Given the description of an element on the screen output the (x, y) to click on. 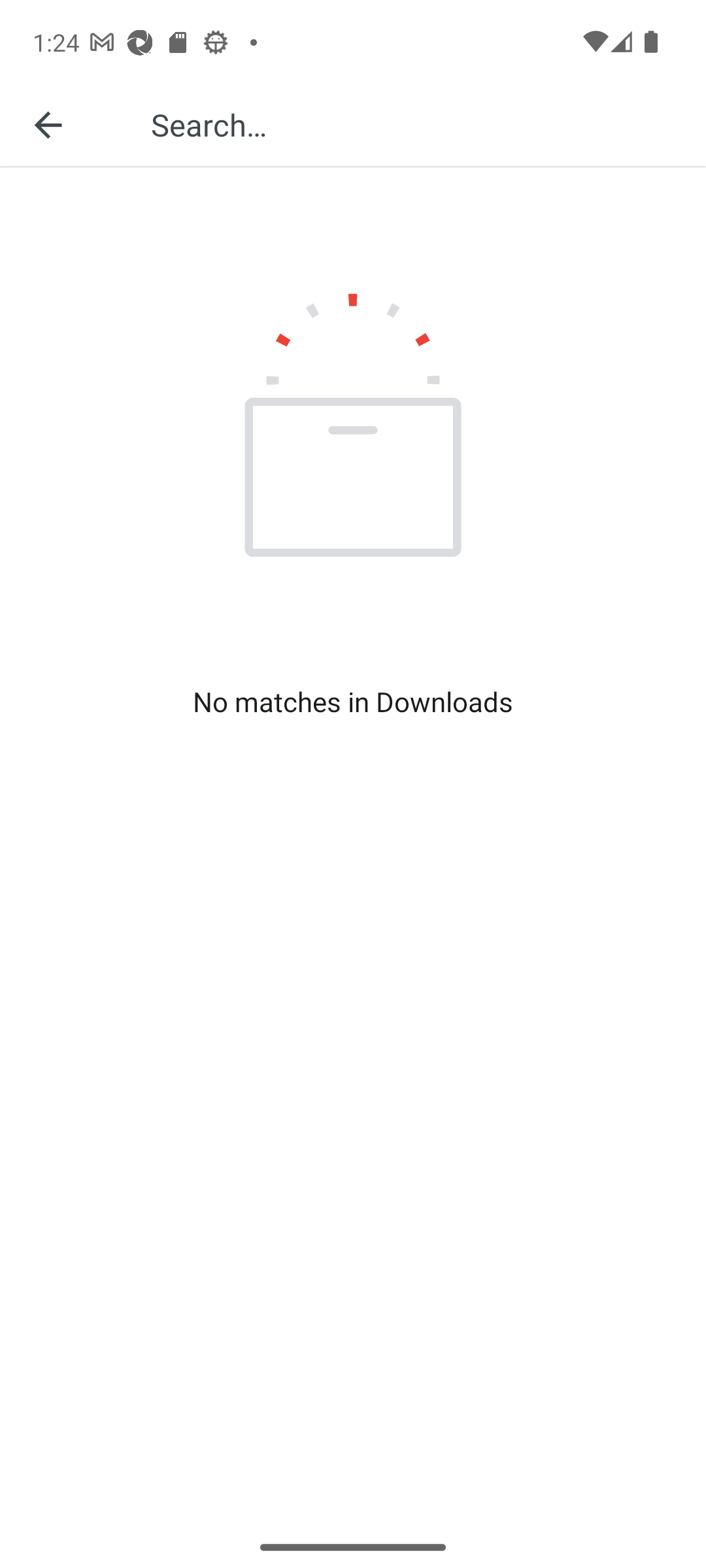
Back (48, 124)
Search… (414, 124)
